Given the description of an element on the screen output the (x, y) to click on. 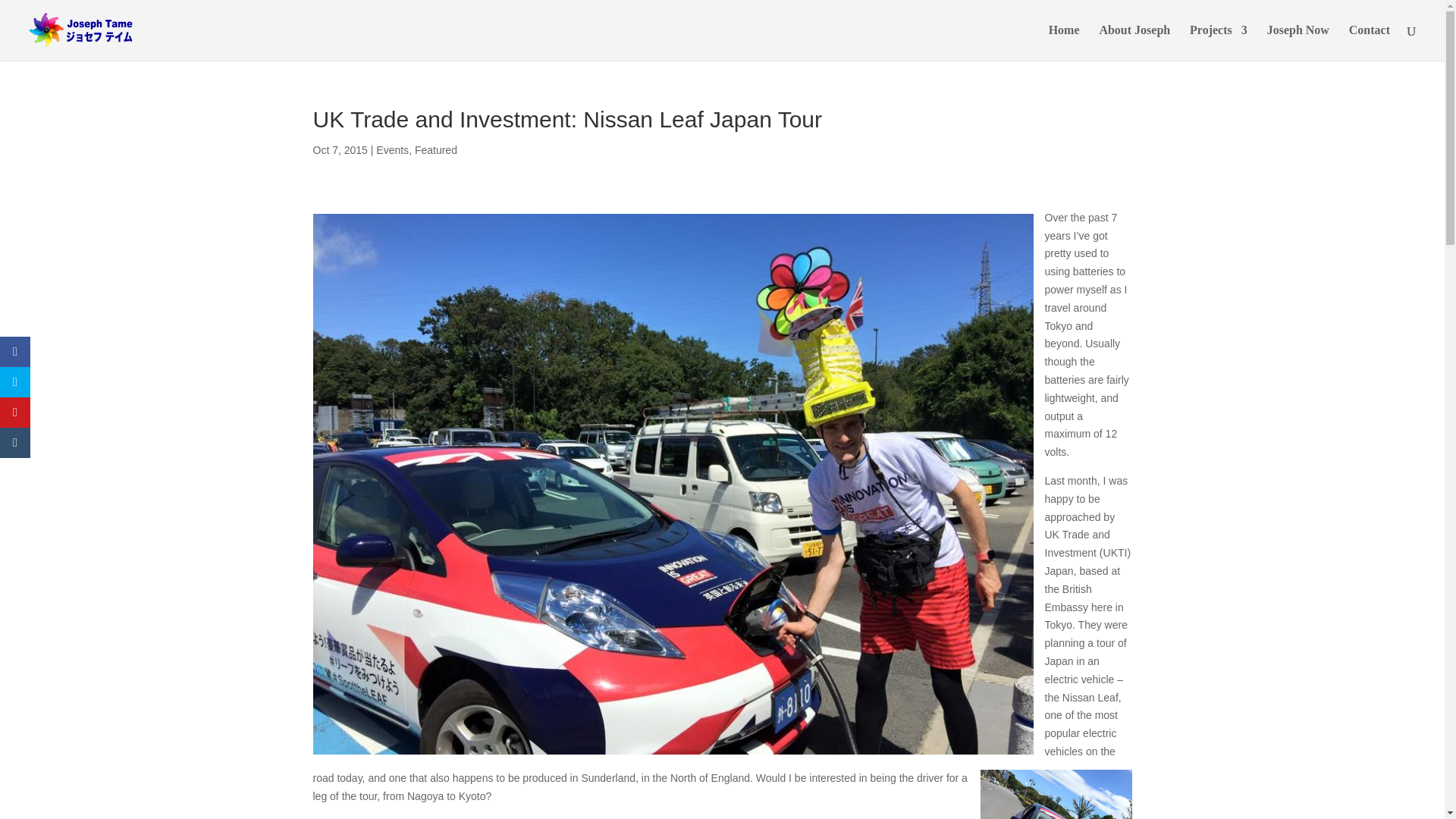
Projects (1218, 42)
Contact (1369, 42)
Events (392, 150)
Featured (435, 150)
Joseph Now (1297, 42)
About Joseph (1134, 42)
